Given the description of an element on the screen output the (x, y) to click on. 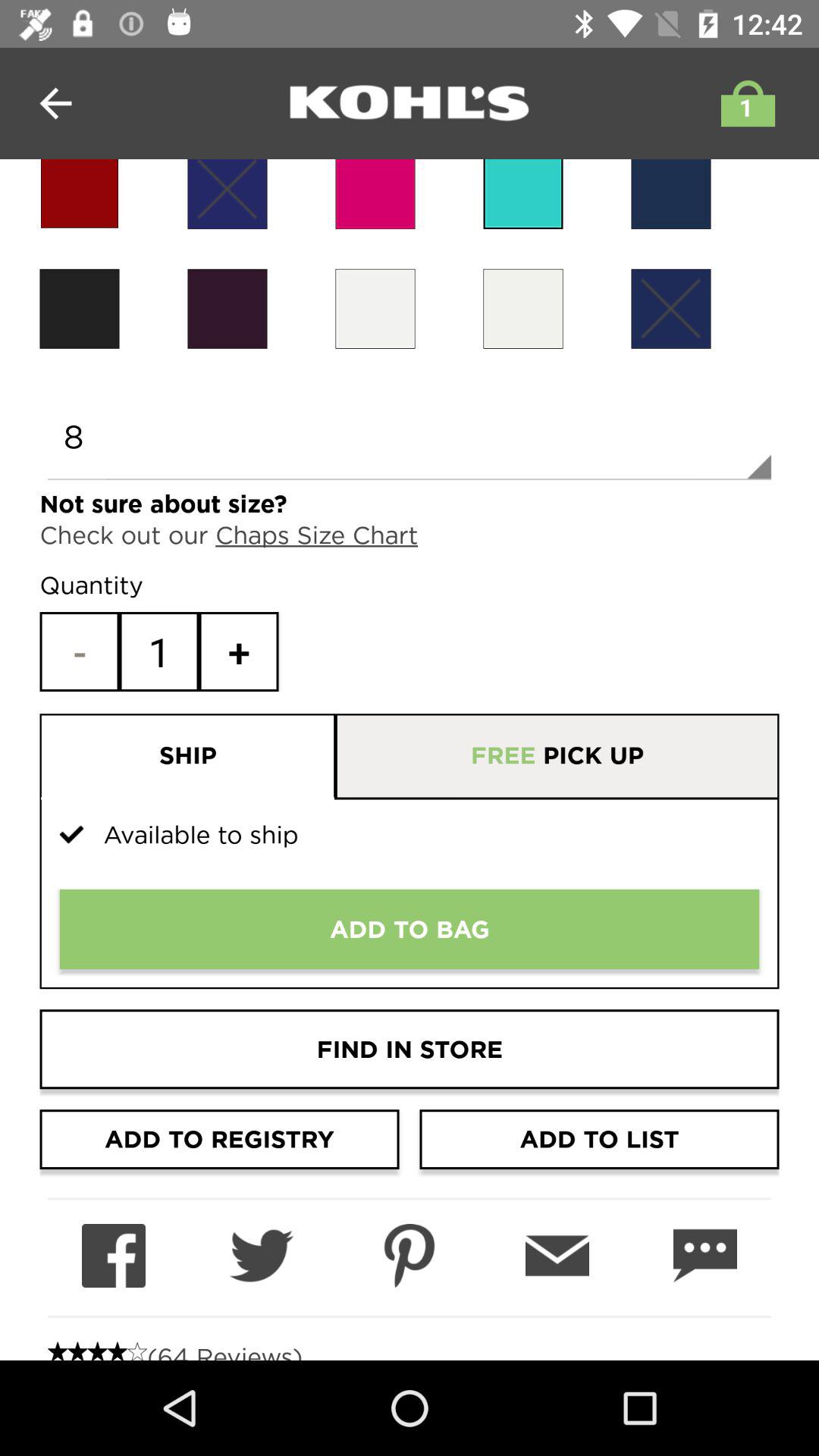
red color choice (79, 194)
